Given the description of an element on the screen output the (x, y) to click on. 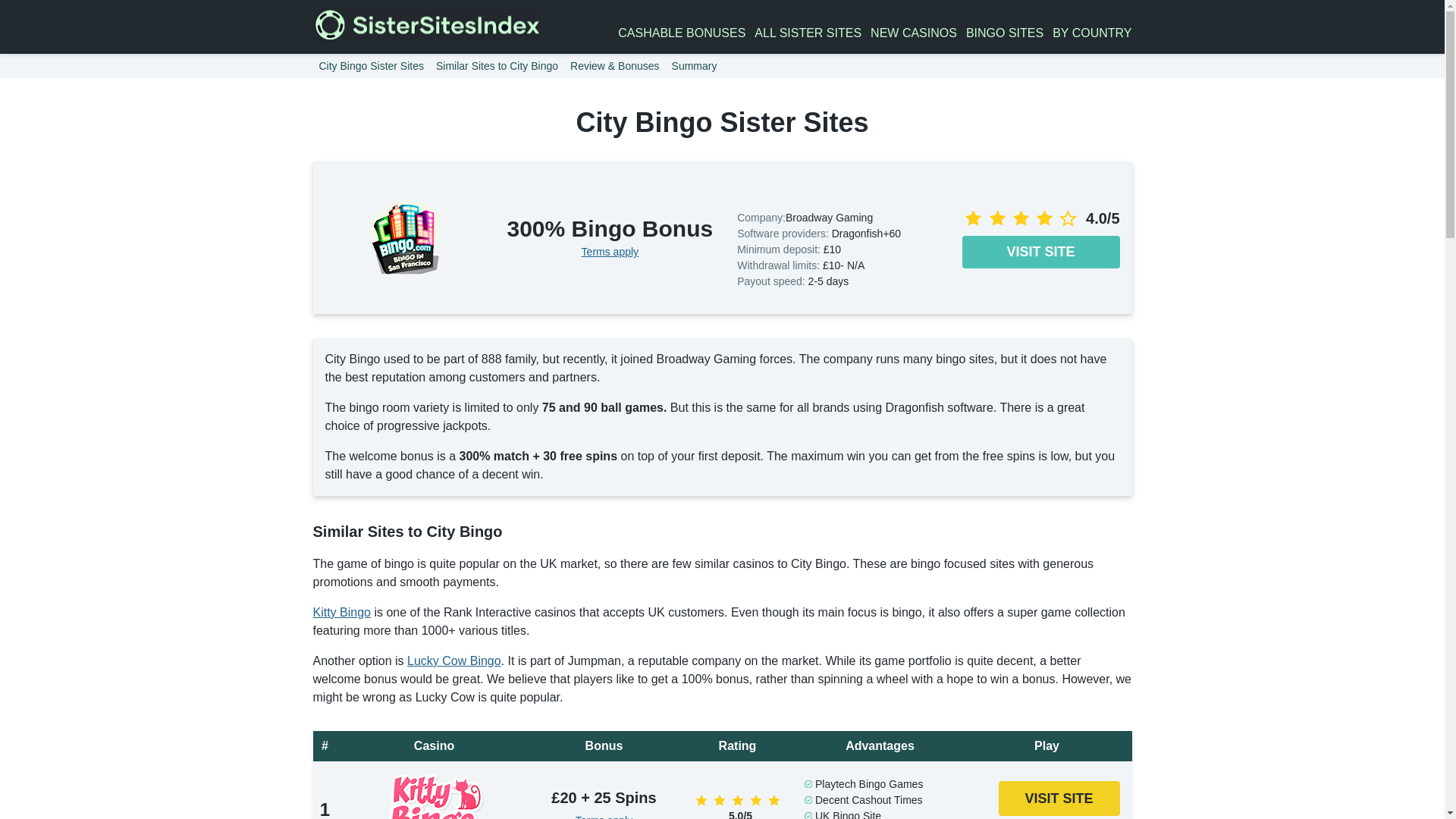
VISIT SITE (1058, 798)
Terms apply (609, 251)
BY COUNTRY (1091, 33)
City Bingo Sister Sites (371, 65)
ALL SISTER SITES (807, 33)
BINGO SITES (1004, 33)
Summary (694, 65)
NEW CASINOS (913, 33)
CASHABLE BONUSES (681, 33)
VISIT SITE (1039, 251)
Terms apply (603, 816)
Similar Sites to City Bingo (496, 65)
Lucky Cow Bingo (453, 660)
Kitty Bingo (341, 612)
